Given the description of an element on the screen output the (x, y) to click on. 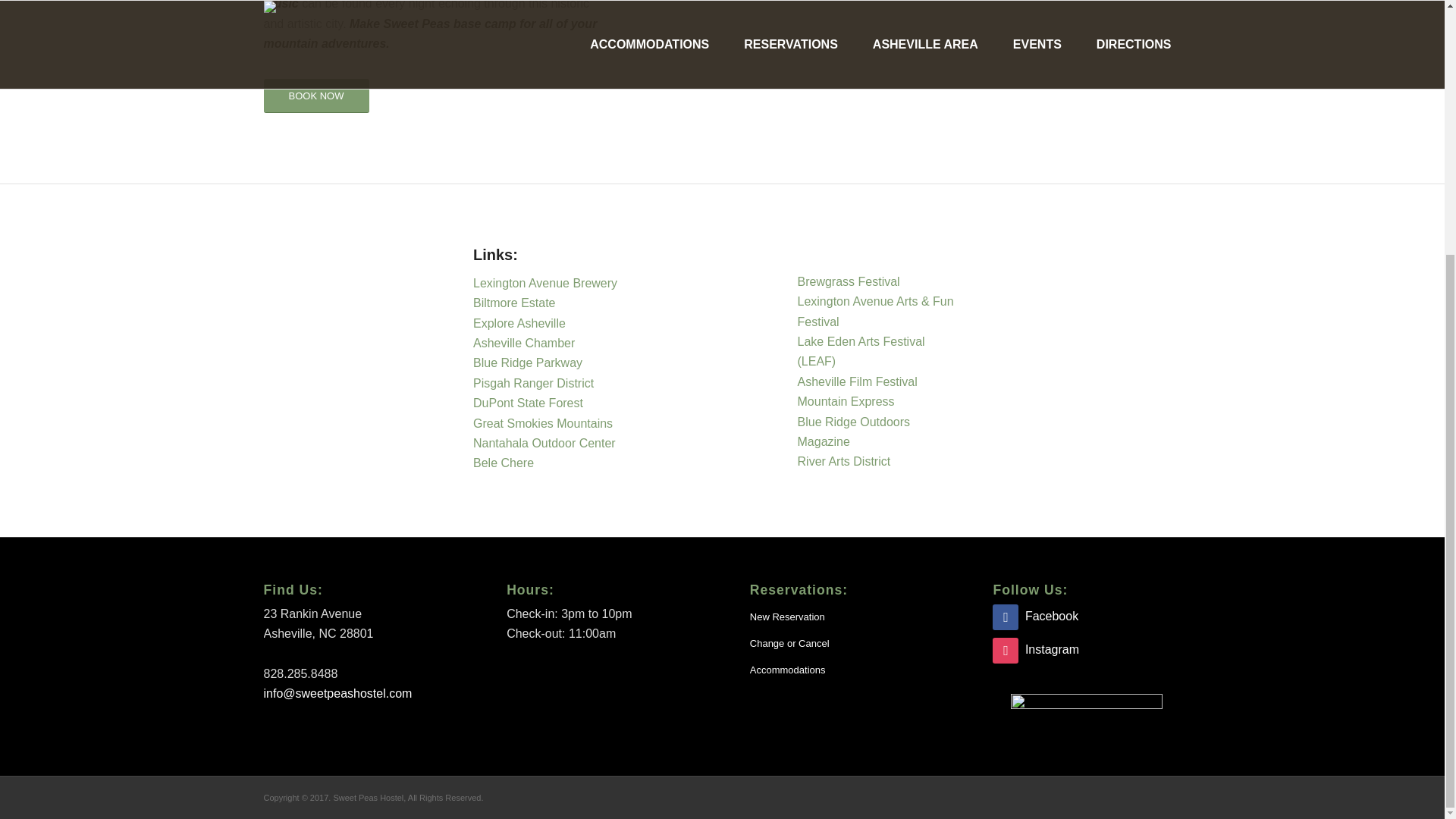
Explore Asheville (519, 323)
Blue Ridge Parkway  (529, 362)
New Reservation (843, 617)
Blue Ridge Outdoors Magazine (854, 431)
Great Smokies Mountains  (544, 422)
Nantahala Outdoor Center (544, 442)
Bele Chere (503, 462)
Facebook (1035, 615)
Asheville Film Festival  (859, 381)
Brewgrass Festival (848, 281)
Instagram (1035, 649)
Accommodations (843, 670)
Pisgah Ranger District (533, 382)
Mountain Express (846, 400)
Facebook (1035, 615)
